Given the description of an element on the screen output the (x, y) to click on. 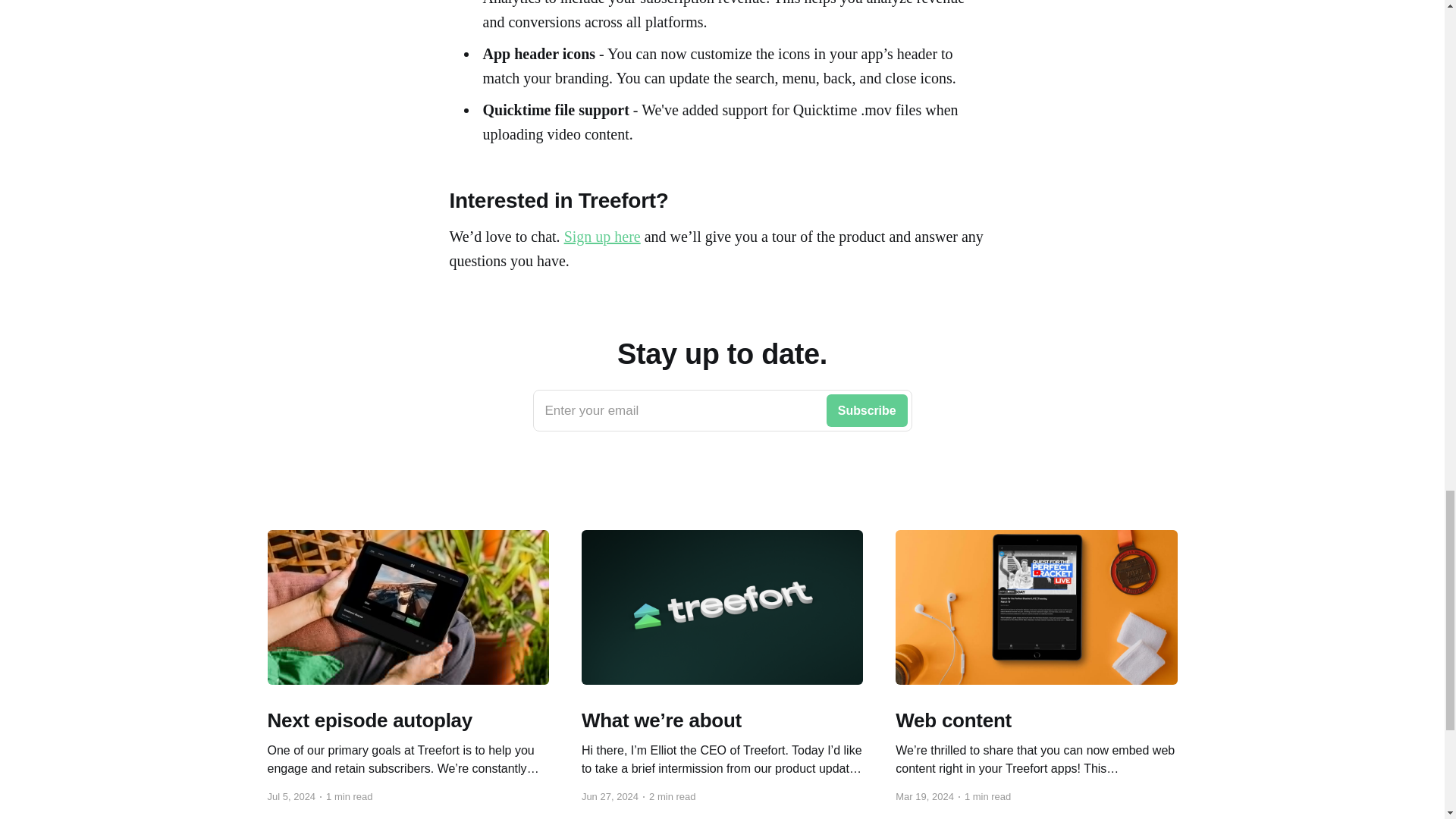
Sign up here (721, 410)
